Given the description of an element on the screen output the (x, y) to click on. 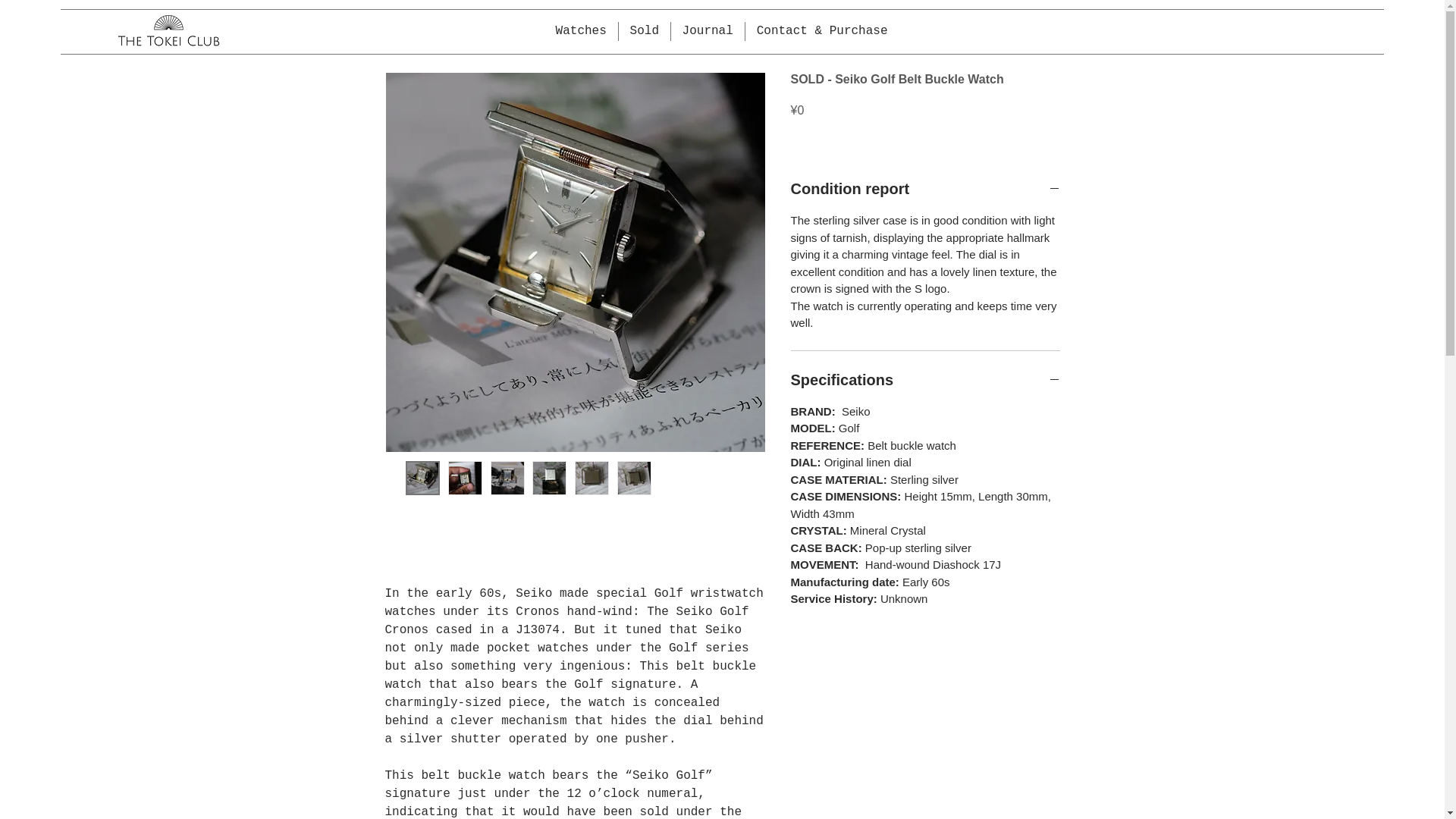
Specifications (924, 379)
Condition report (924, 188)
Sold (643, 31)
Watches (580, 31)
Journal (707, 31)
